Given the description of an element on the screen output the (x, y) to click on. 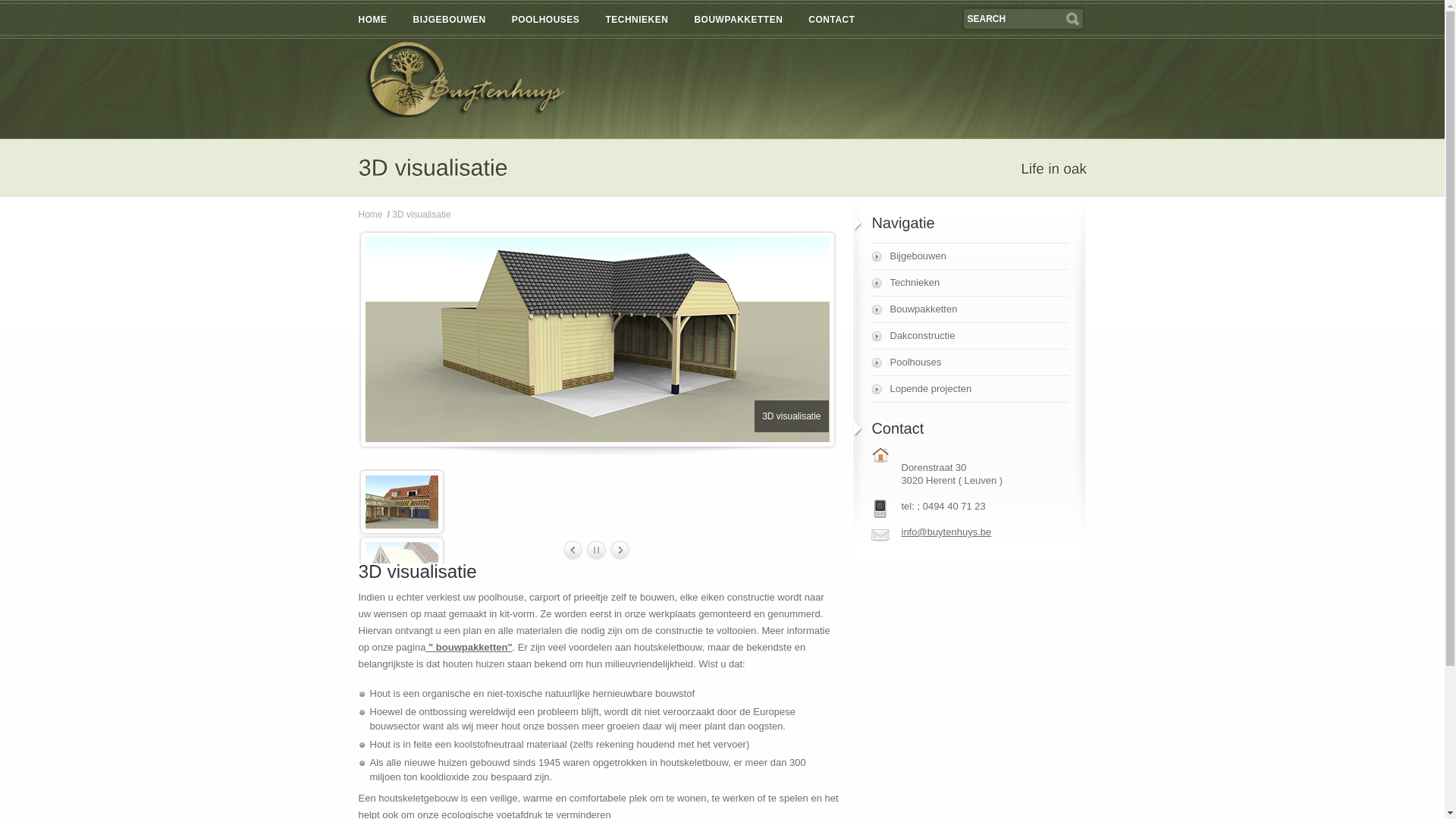
Bijgebouwen Element type: text (979, 255)
Bouwpakketten Element type: text (979, 308)
Poolhouses Element type: text (979, 361)
" bouwpakketten" Element type: text (468, 646)
Dakconstructie Element type: text (979, 335)
Lopende projecten Element type: text (979, 388)
Home Element type: text (369, 214)
CONTACT Element type: text (840, 19)
BIJGEBOUWEN Element type: text (457, 19)
info@buytenhuys.be Element type: text (983, 531)
POOLHOUSES Element type: text (554, 19)
BOUWPAKKETTEN Element type: text (746, 19)
TECHNIEKEN Element type: text (645, 19)
Technieken Element type: text (979, 282)
3D visualisatie Element type: text (421, 214)
HOME Element type: text (380, 19)
